Given the description of an element on the screen output the (x, y) to click on. 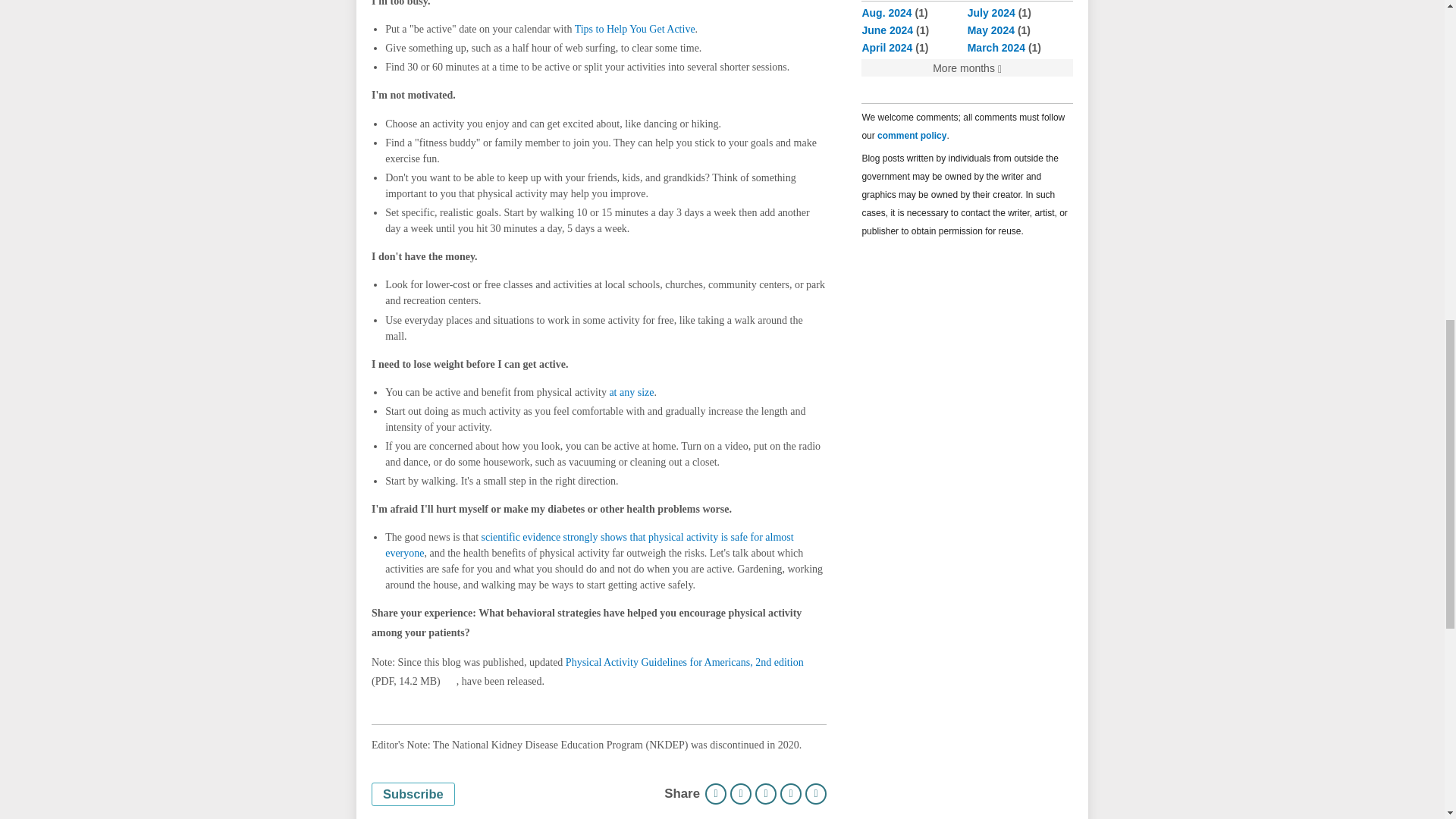
Email this page (791, 793)
Print this page (715, 793)
PDF document (449, 681)
Post this page on X (765, 793)
More sharing options (816, 793)
Share this page on Facebook (740, 793)
